Given the description of an element on the screen output the (x, y) to click on. 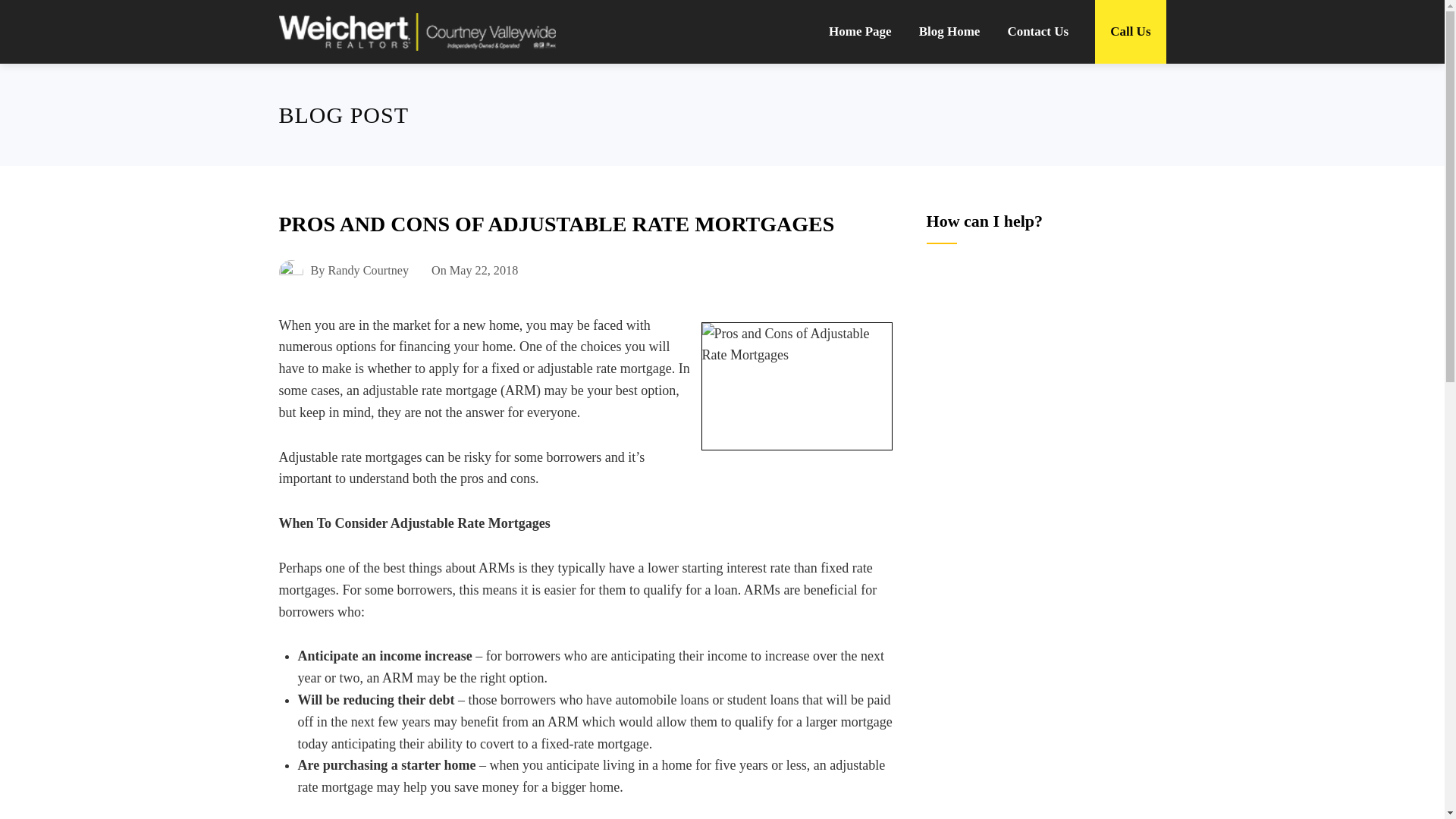
Blog Home (949, 31)
Call Us (1130, 31)
Home Page (859, 31)
Contact Us (1037, 31)
